Given the description of an element on the screen output the (x, y) to click on. 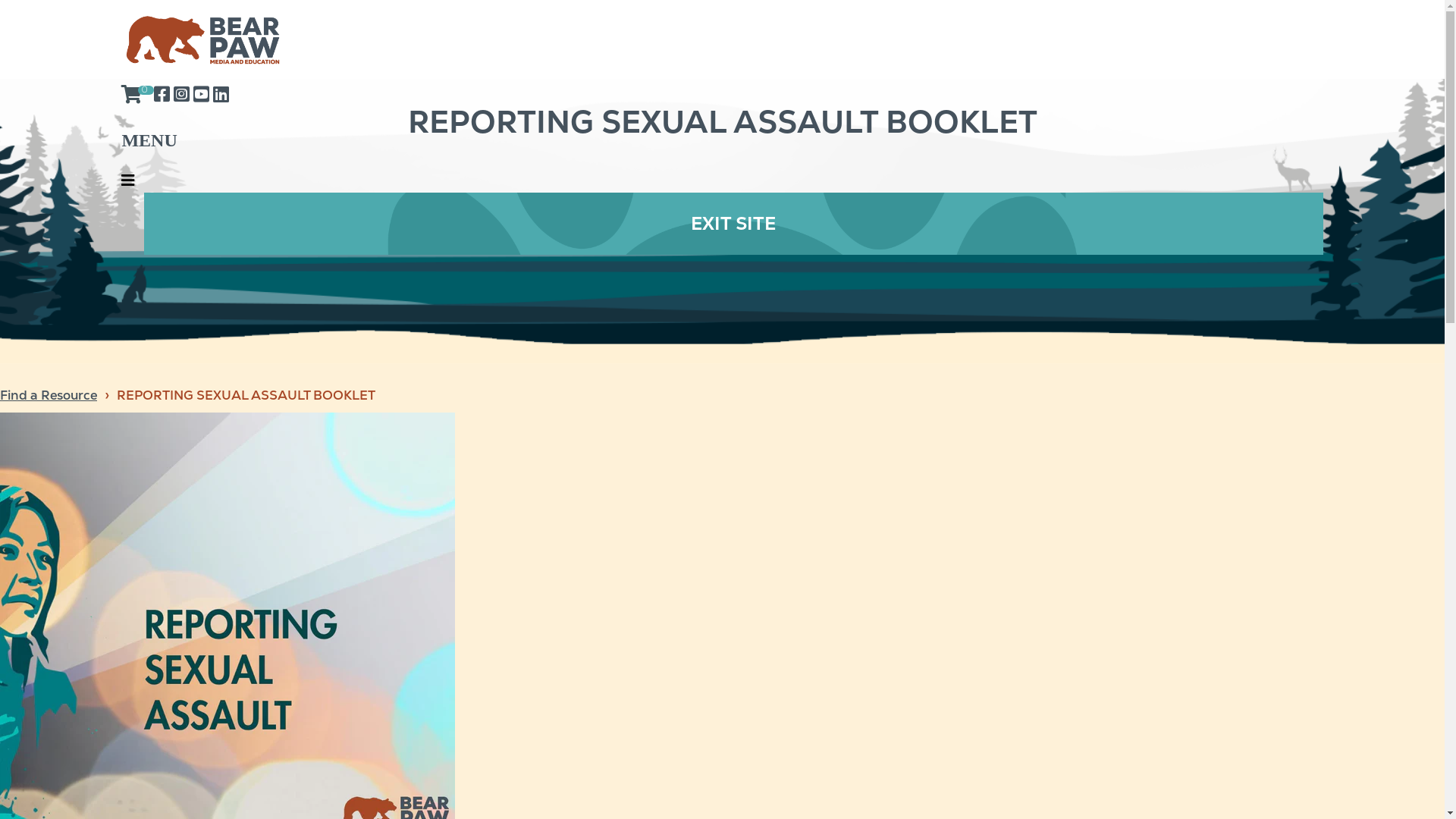
Find a Resource Element type: text (48, 395)
